Given the description of an element on the screen output the (x, y) to click on. 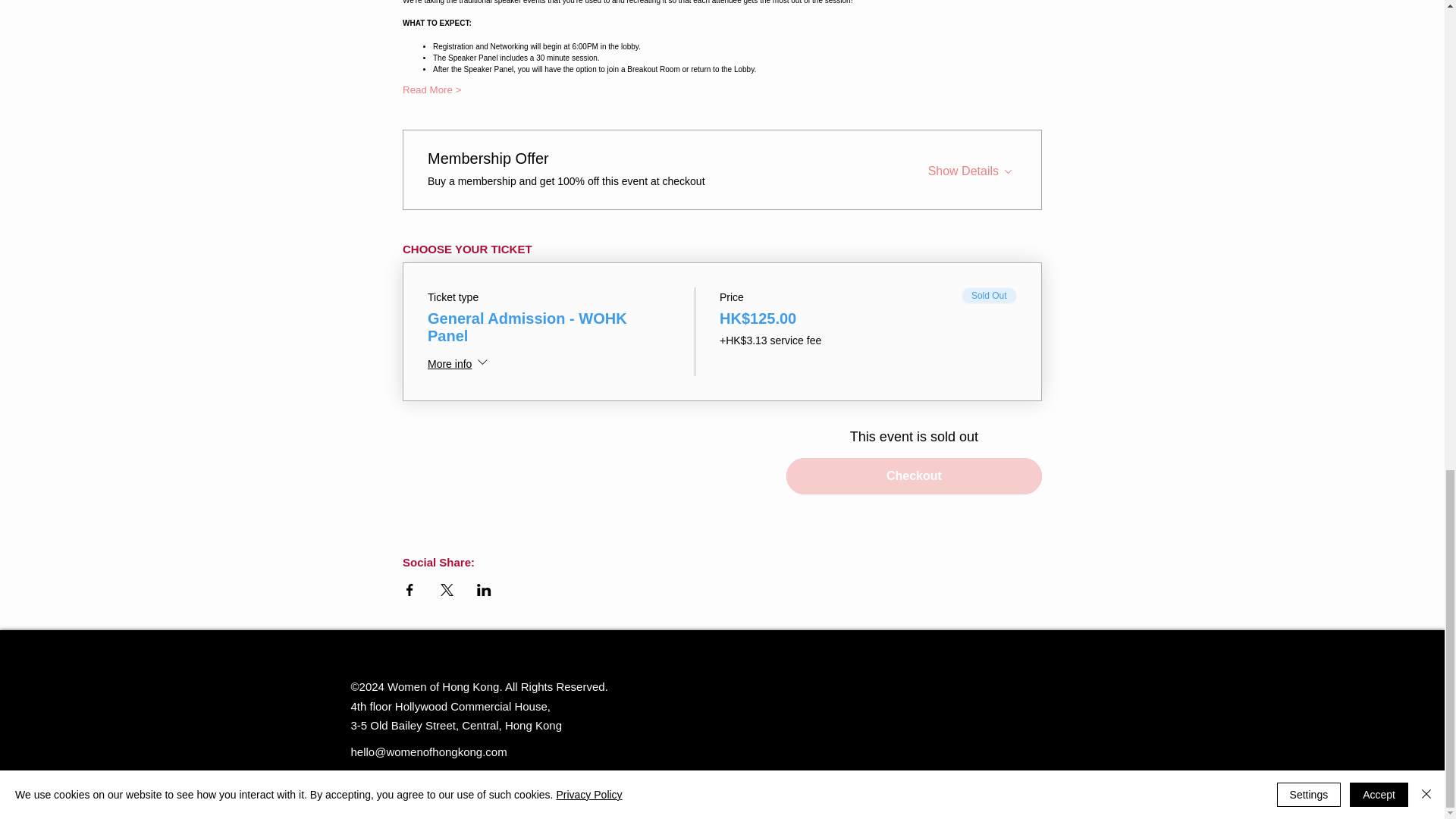
Show Details (972, 167)
Checkout (914, 475)
More info (459, 364)
